Given the description of an element on the screen output the (x, y) to click on. 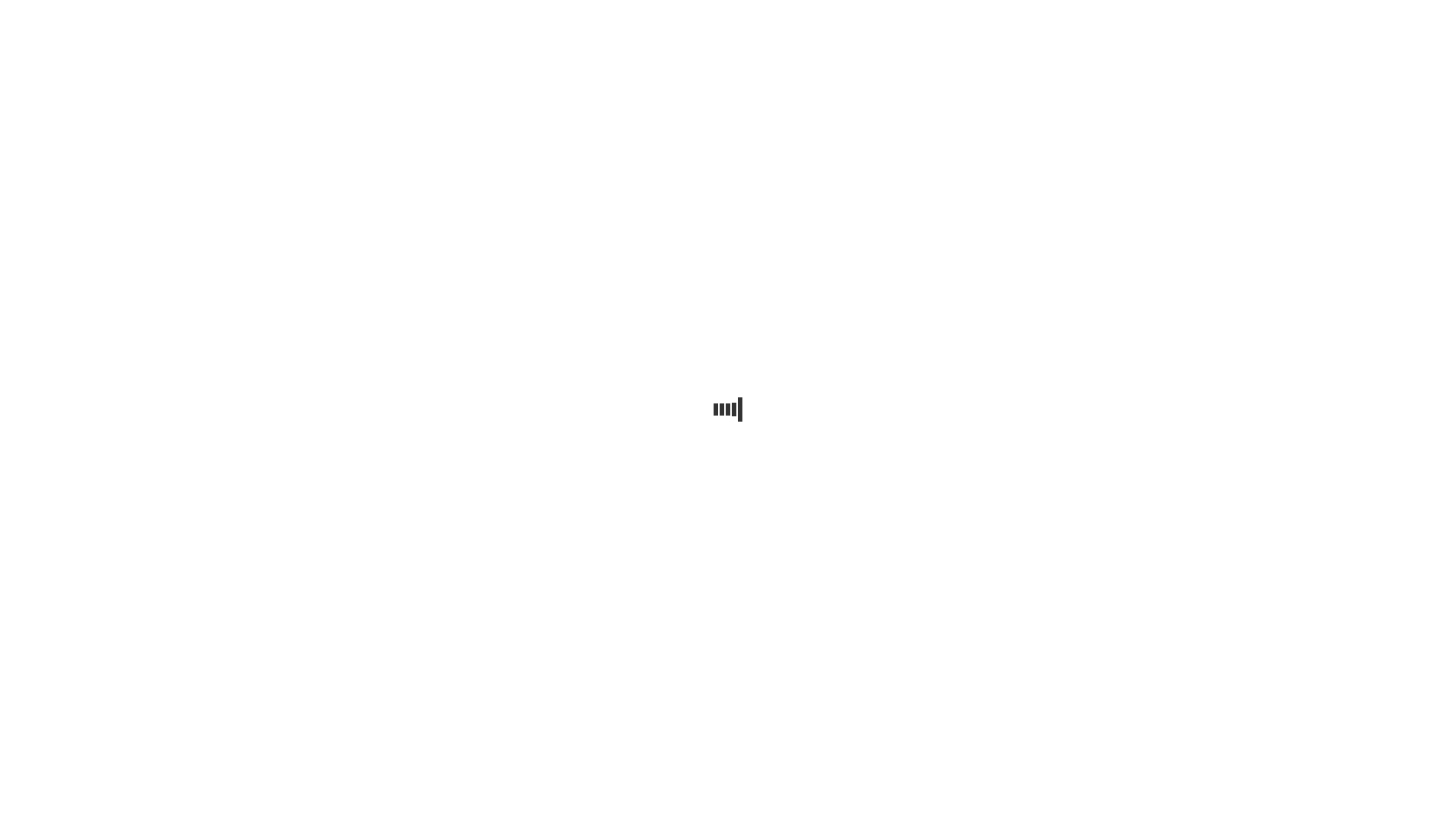
Advertisement Element type: hover (728, 206)
Goroda.by Element type: text (1130, 17)
